Given the description of an element on the screen output the (x, y) to click on. 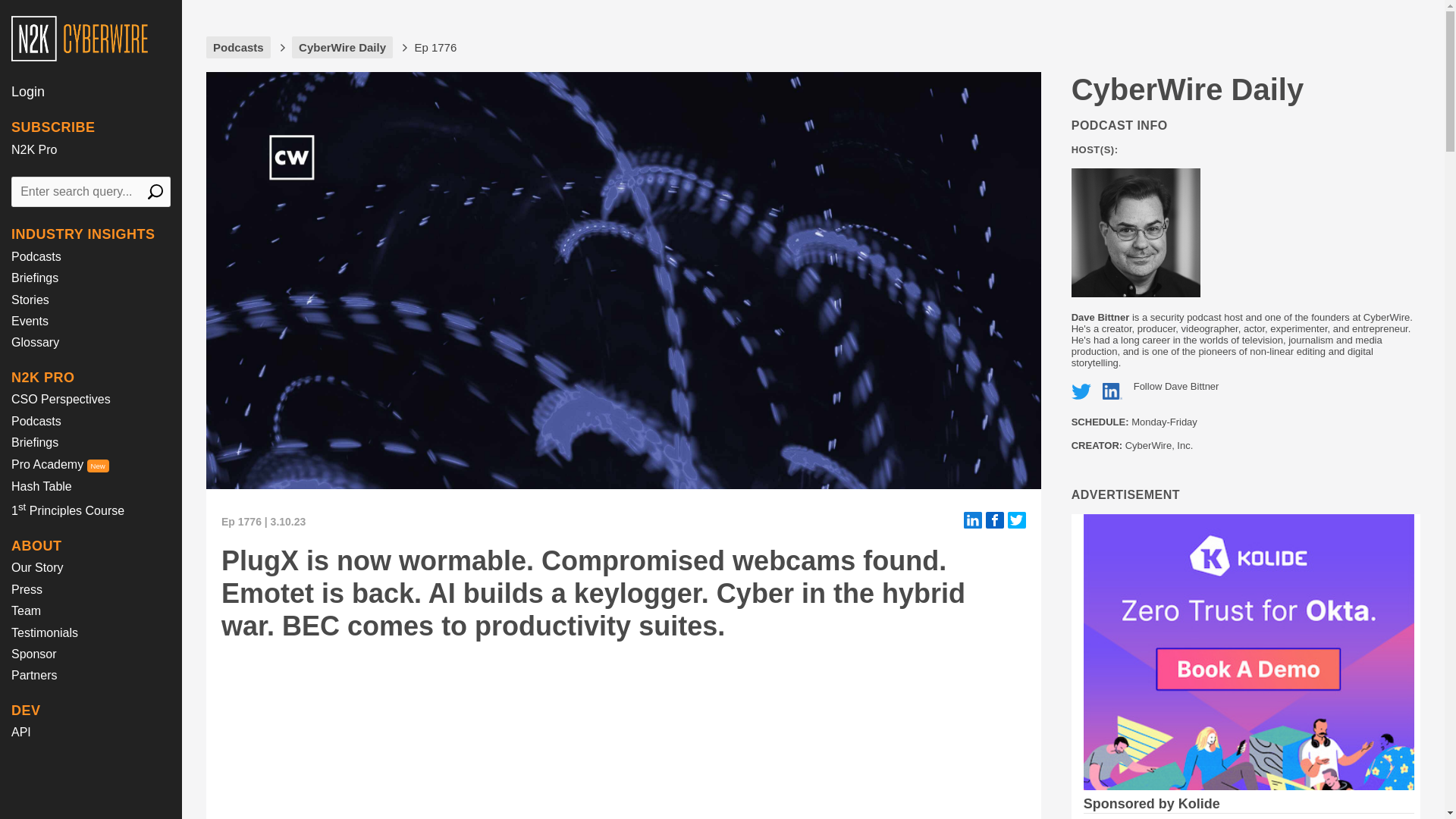
Megaphone audio player. (449, 729)
Stories (30, 299)
Our Story (36, 567)
Podcasts (36, 420)
Hash Table (41, 486)
Partners (33, 675)
1st Principles Course (67, 510)
N2K Pro (33, 149)
Briefings (34, 277)
Testimonials (44, 632)
